Given the description of an element on the screen output the (x, y) to click on. 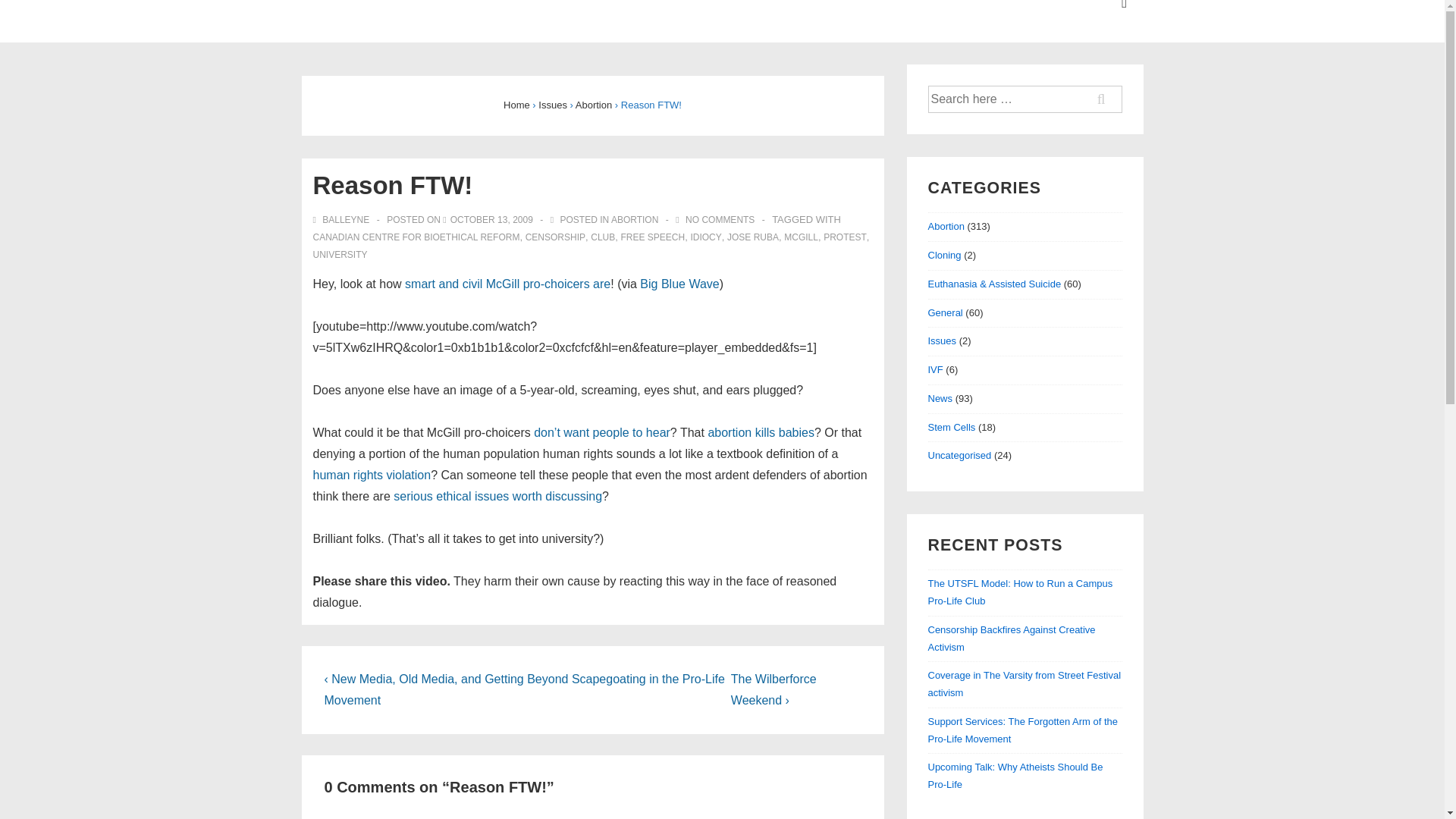
serious ethical issues worth discussing (497, 495)
Home (516, 104)
MCGILL (801, 236)
BALLEYNE (342, 219)
CENSORSHIP (555, 236)
smart and civil McGill pro-choicers are (507, 283)
Reason FTW! (490, 219)
NO COMMENTS (719, 219)
OCTOBER 13, 2009 (490, 219)
abortion kills babies (760, 431)
CANADIAN CENTRE FOR BIOETHICAL REFORM (416, 236)
View all posts by balleyne (342, 219)
FREE SPEECH (652, 236)
ABORTION (634, 219)
human rights violation (371, 474)
